Given the description of an element on the screen output the (x, y) to click on. 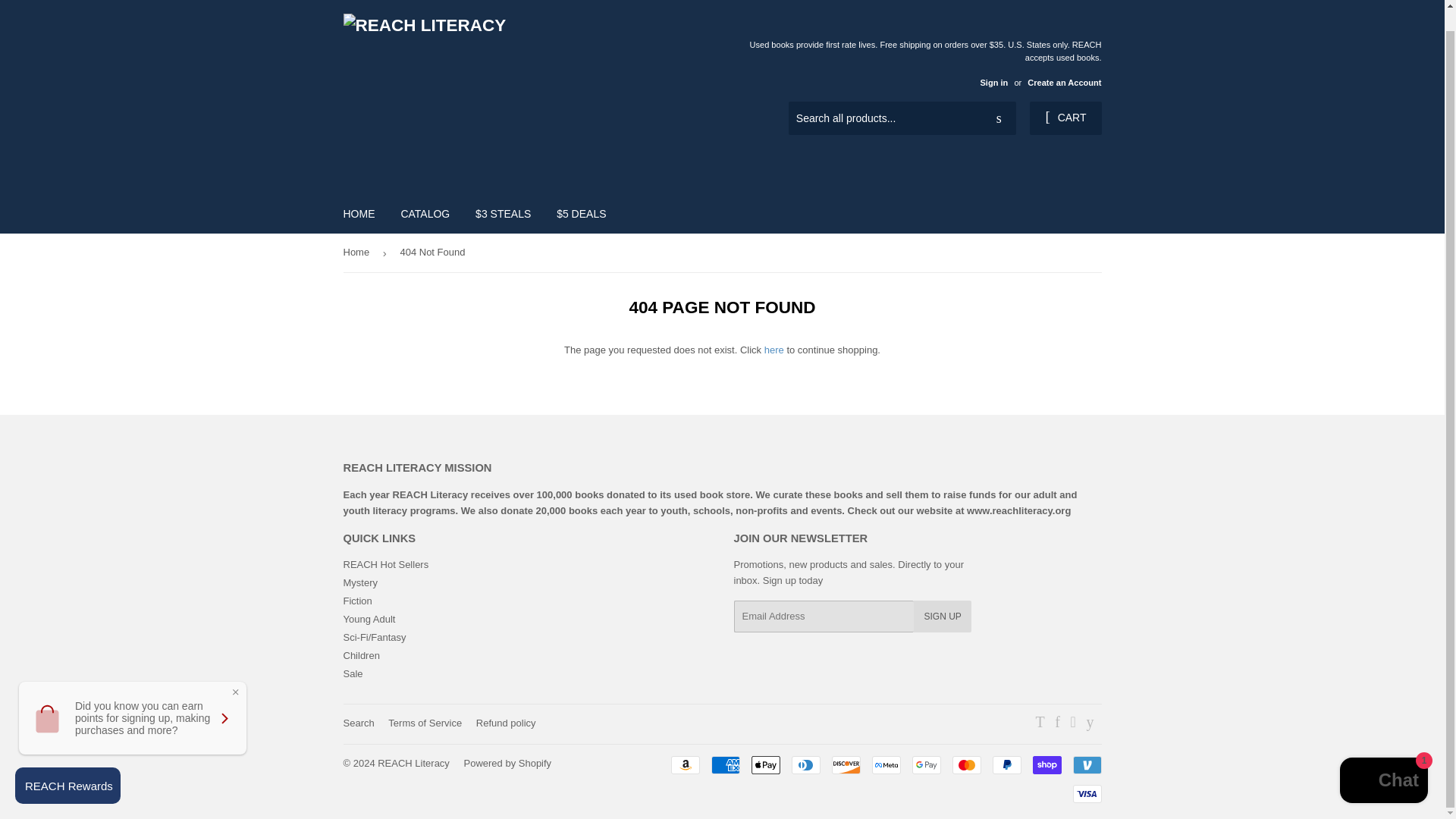
Shopify online store chat (1383, 761)
Apple Pay (764, 764)
HOME (359, 213)
Search (998, 119)
PayPal (1005, 764)
CATALOG (424, 213)
Meta Pay (886, 764)
www.reachliteracy.org (1018, 510)
SIGN UP (942, 616)
Mystery (359, 582)
American Express (725, 764)
Google Pay (925, 764)
LoyaltyLion beacon (67, 764)
Children (360, 655)
Sale (352, 673)
